Given the description of an element on the screen output the (x, y) to click on. 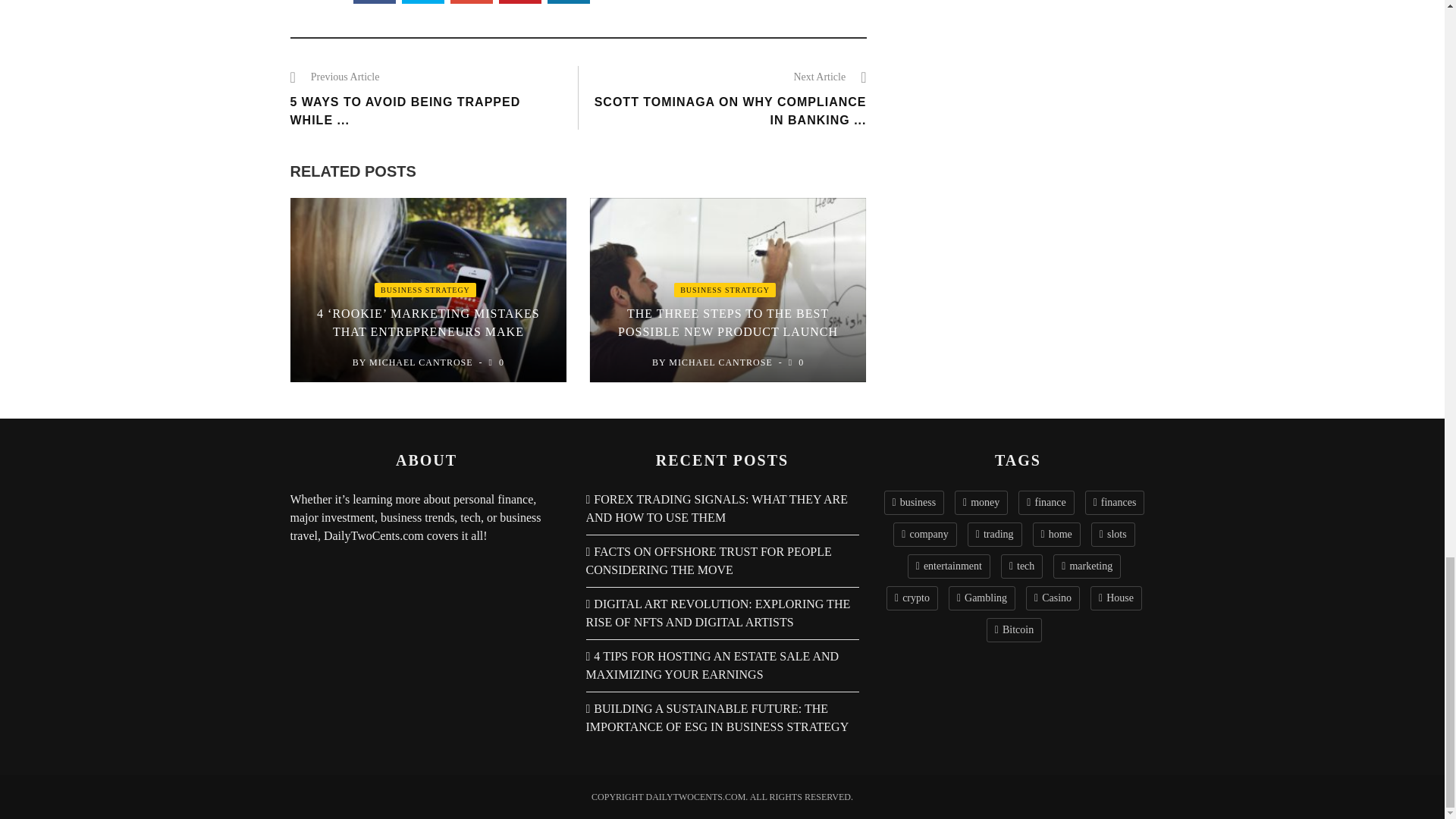
Posts by Michael Cantrose (720, 362)
Posts by Michael Cantrose (421, 362)
5 WAYS TO AVOID BEING TRAPPED WHILE ... (404, 110)
